Given the description of an element on the screen output the (x, y) to click on. 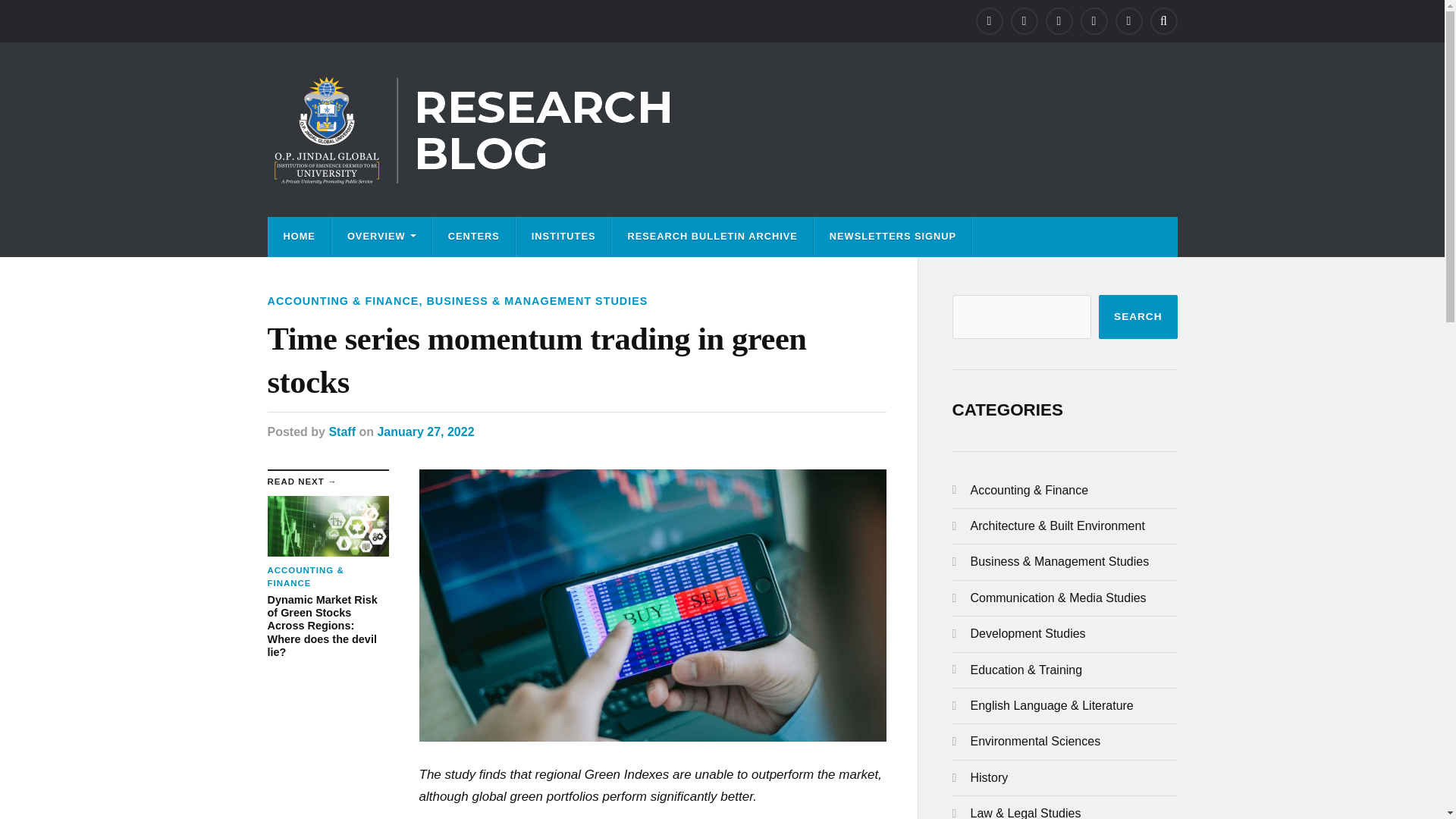
NEWSLETTERS SIGNUP (892, 237)
Staff (342, 431)
HOME (298, 237)
INSTITUTES (563, 237)
RESEARCH BULLETIN ARCHIVE (711, 237)
CENTERS (473, 237)
OVERVIEW (380, 237)
January 27, 2022 (425, 431)
